Given the description of an element on the screen output the (x, y) to click on. 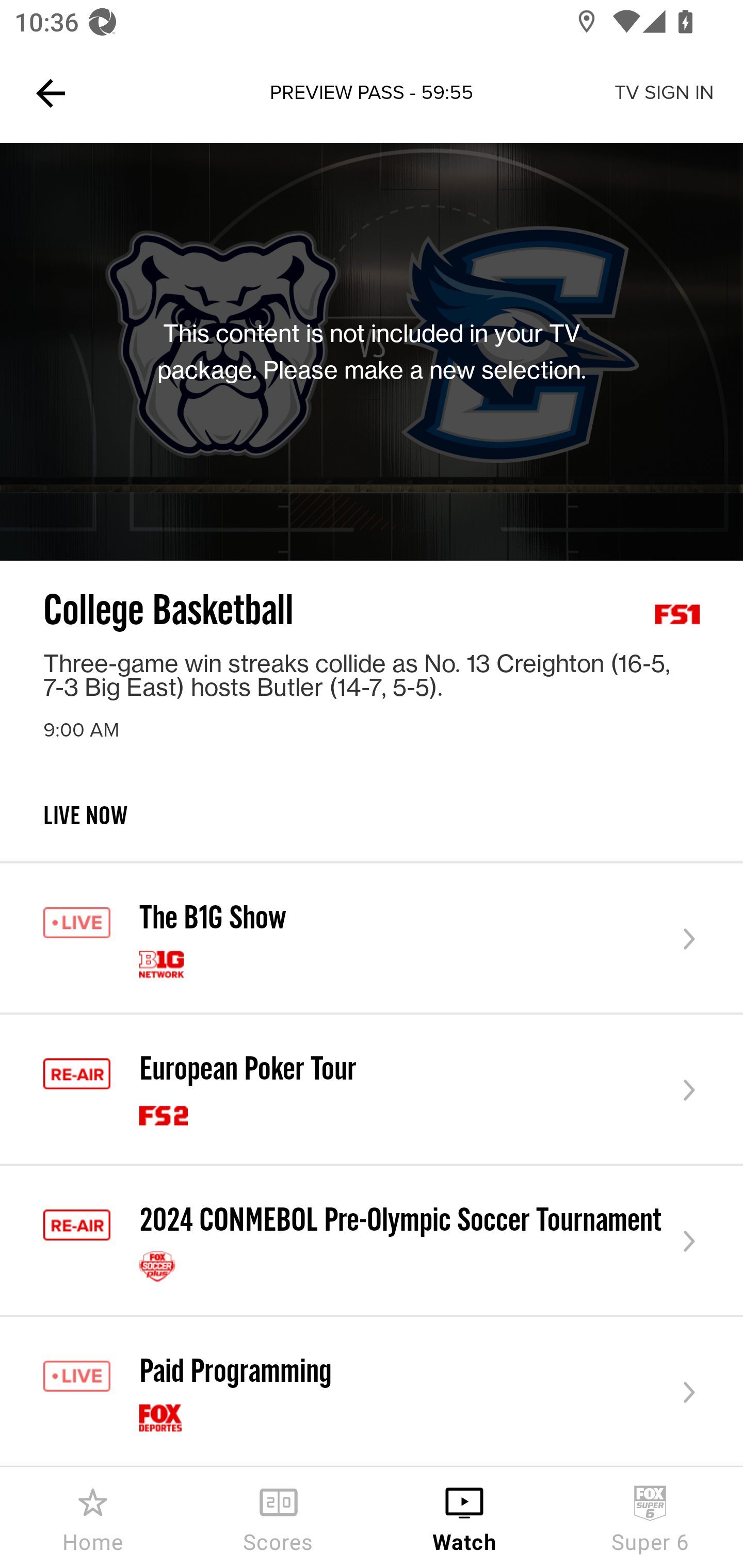
Navigate up (50, 92)
TV SIGN IN (664, 93)
LIVE NOW (371, 831)
The B1G Show (371, 938)
European Poker Tour (371, 1089)
2024 CONMEBOL Pre-Olympic Soccer Tournament (371, 1241)
Paid Programming (371, 1392)
Home (92, 1517)
Scores (278, 1517)
Super 6 (650, 1517)
